Given the description of an element on the screen output the (x, y) to click on. 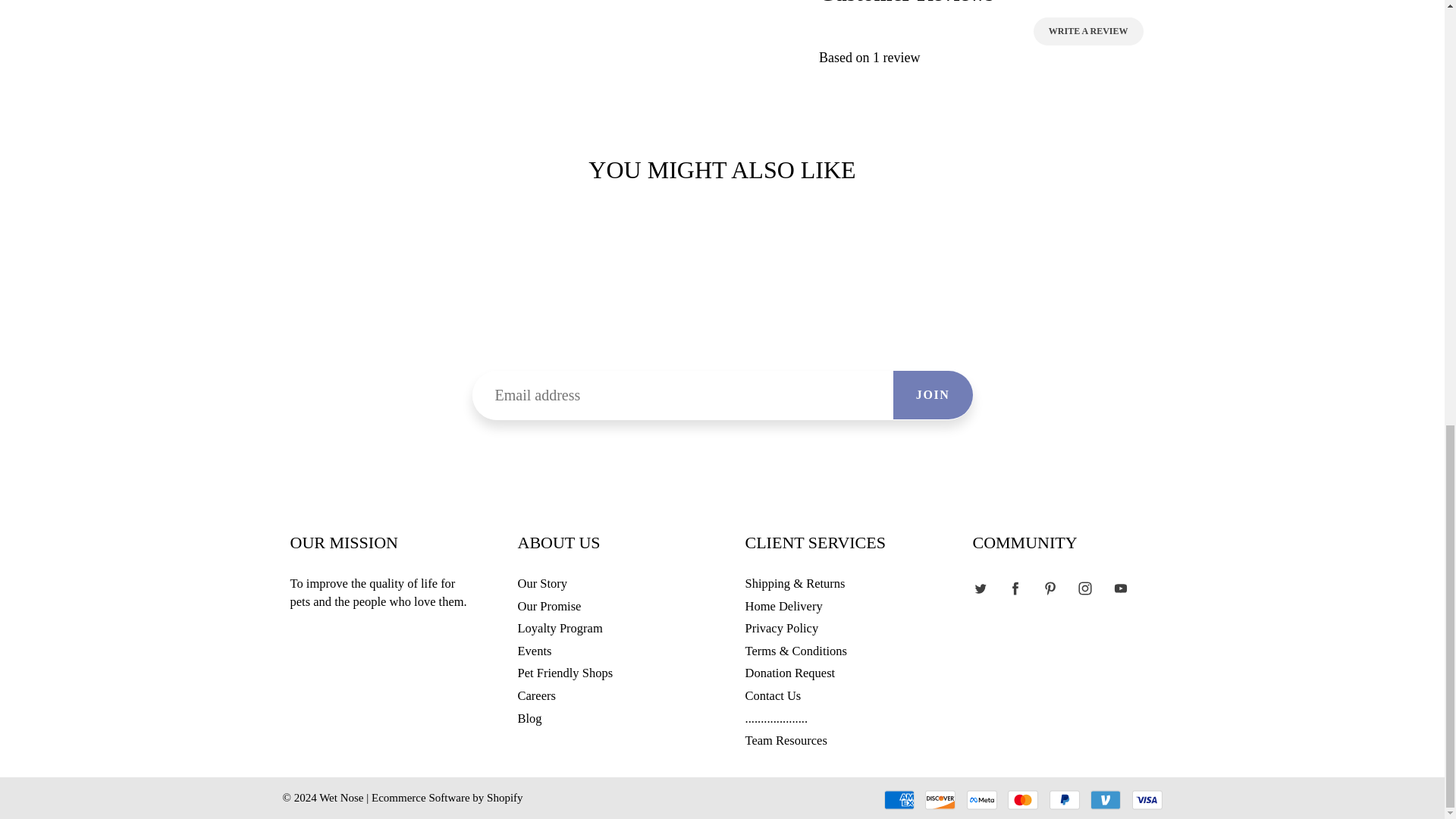
American Express (898, 799)
Visa (1146, 799)
Mastercard (1022, 799)
PayPal (1064, 799)
Venmo (1105, 799)
Meta Pay (980, 799)
Discover (939, 799)
